Given the description of an element on the screen output the (x, y) to click on. 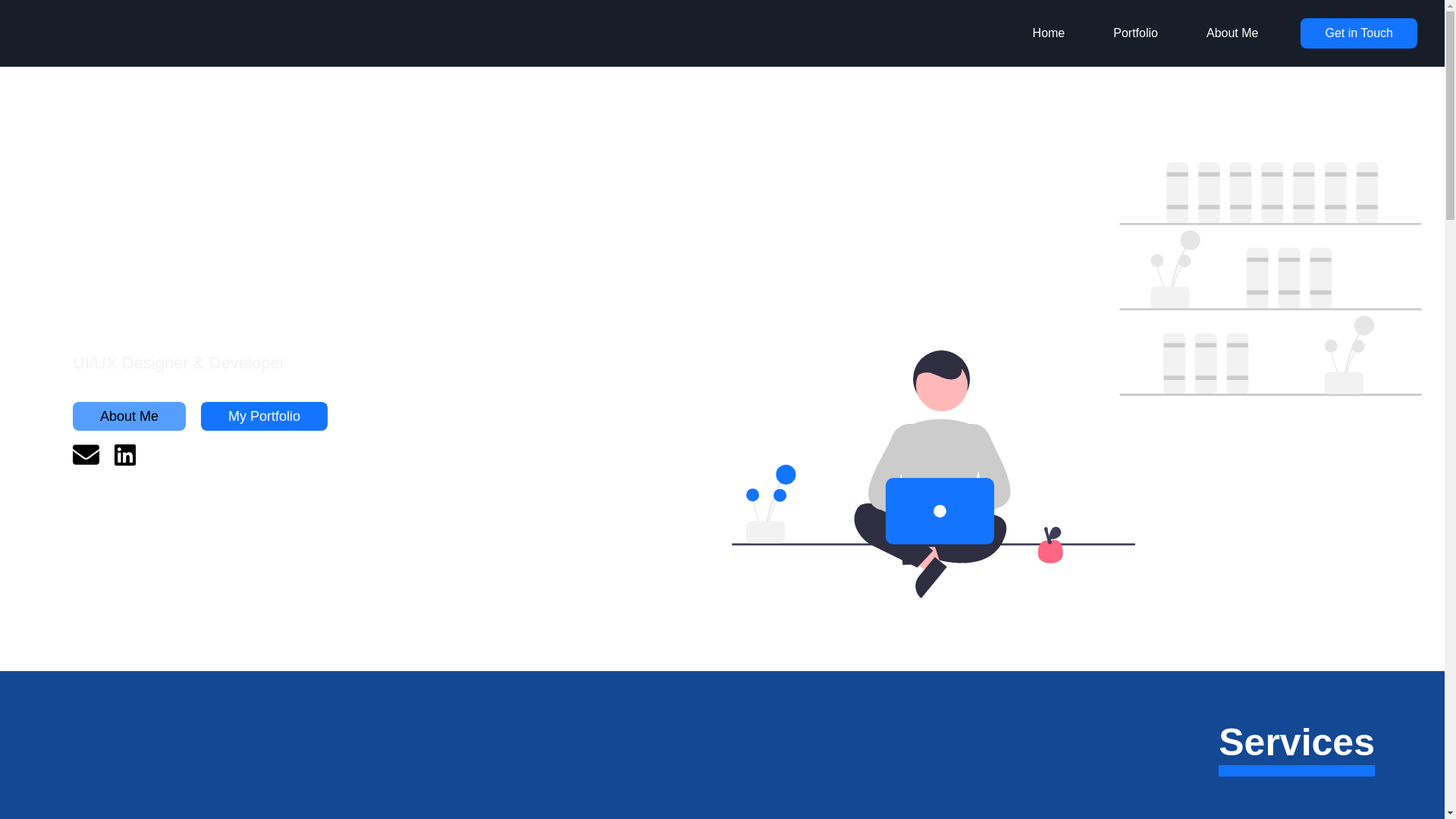
About Me (129, 416)
Get in Touch (1358, 33)
My Portfolio (263, 416)
Portfolio (1134, 33)
About Me (1231, 33)
Home (1048, 33)
